Given the description of an element on the screen output the (x, y) to click on. 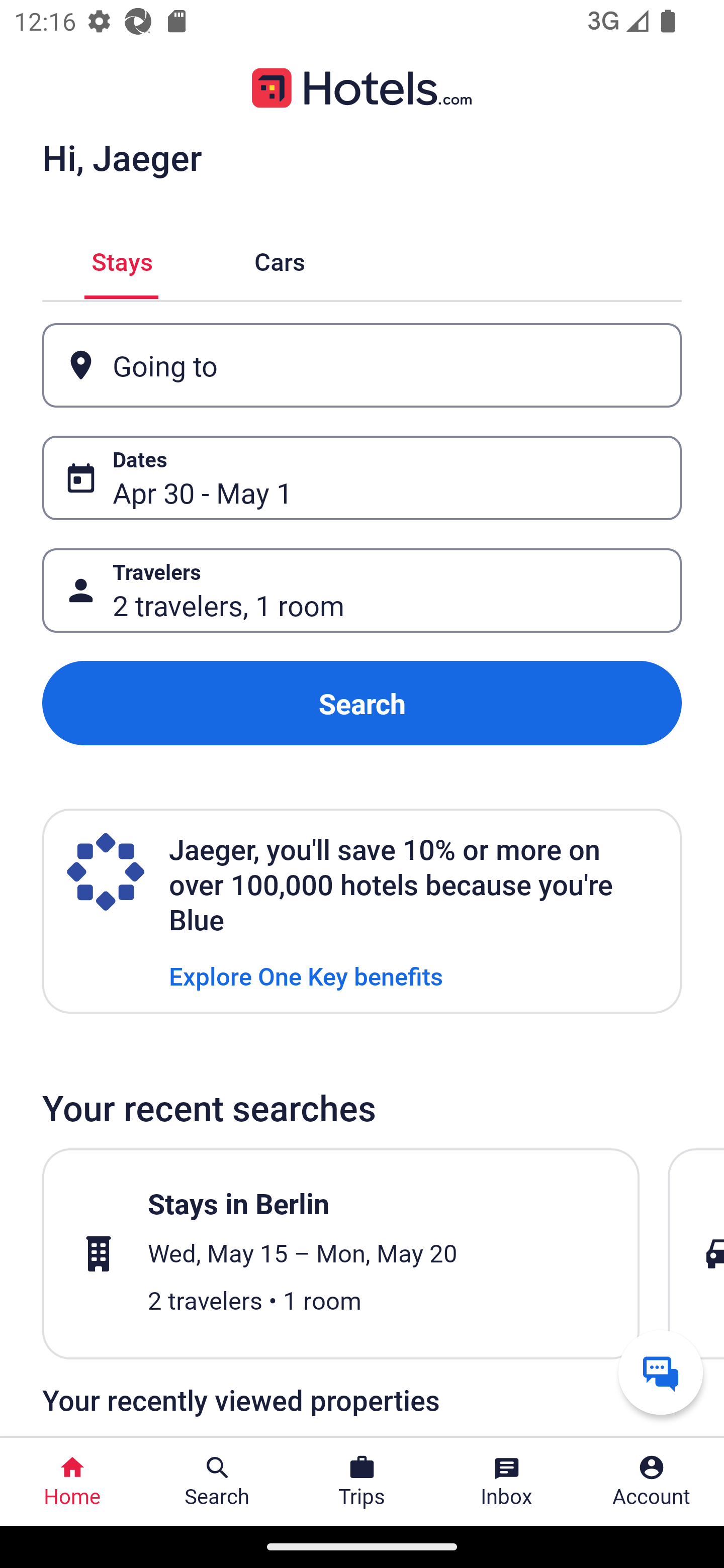
Hi, Jaeger (121, 156)
Cars (279, 259)
Going to Button (361, 365)
Dates Button Apr 30 - May 1 (361, 477)
Travelers Button 2 travelers, 1 room (361, 590)
Search (361, 702)
Get help from a virtual agent (660, 1371)
Search Search Button (216, 1481)
Trips Trips Button (361, 1481)
Inbox Inbox Button (506, 1481)
Account Profile. Button (651, 1481)
